Given the description of an element on the screen output the (x, y) to click on. 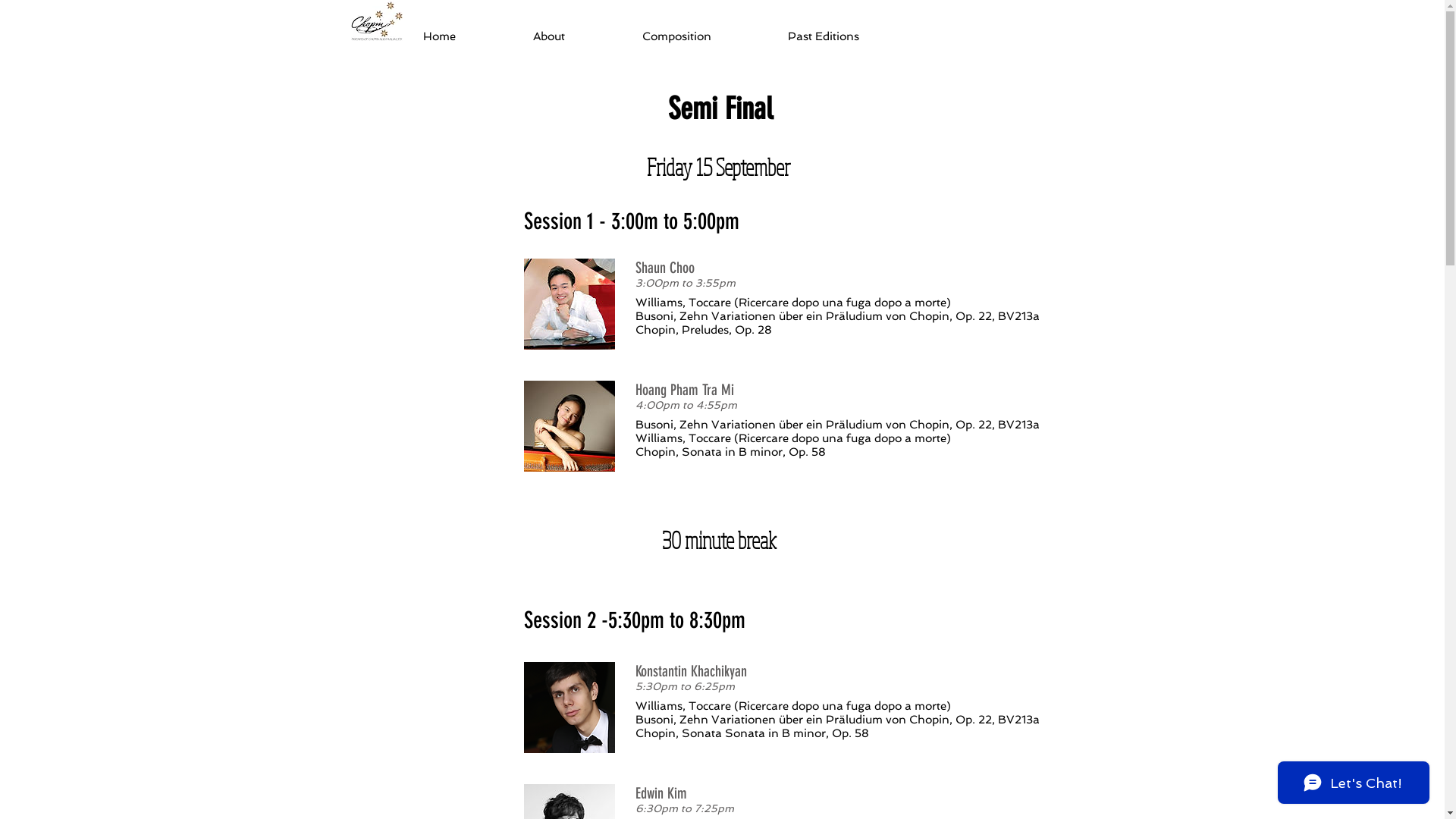
Composition Element type: text (703, 36)
Shaun Choo Element type: hover (568, 303)
Konstantin Khachikyan Element type: hover (568, 707)
FCAL - Logo - white background.jpg Element type: hover (375, 20)
Home Element type: text (465, 36)
About Element type: text (575, 36)
Hoang Pham Tra Mi Element type: hover (568, 425)
Past Editions Element type: text (850, 36)
